Given the description of an element on the screen output the (x, y) to click on. 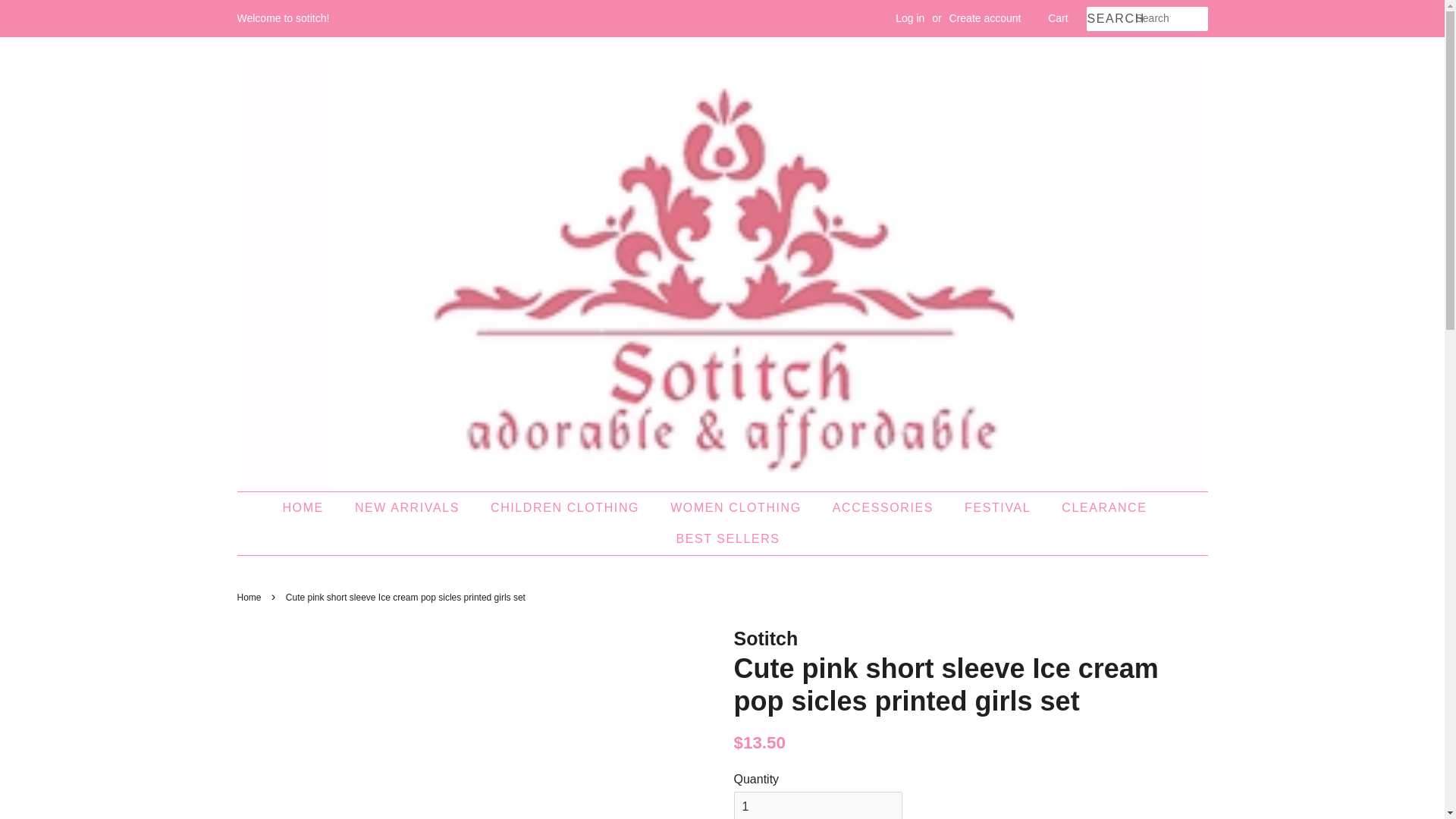
Back to the frontpage (249, 597)
1 (817, 805)
SEARCH (1110, 18)
Cart (1057, 18)
Create account (985, 18)
Log in (909, 18)
